Given the description of an element on the screen output the (x, y) to click on. 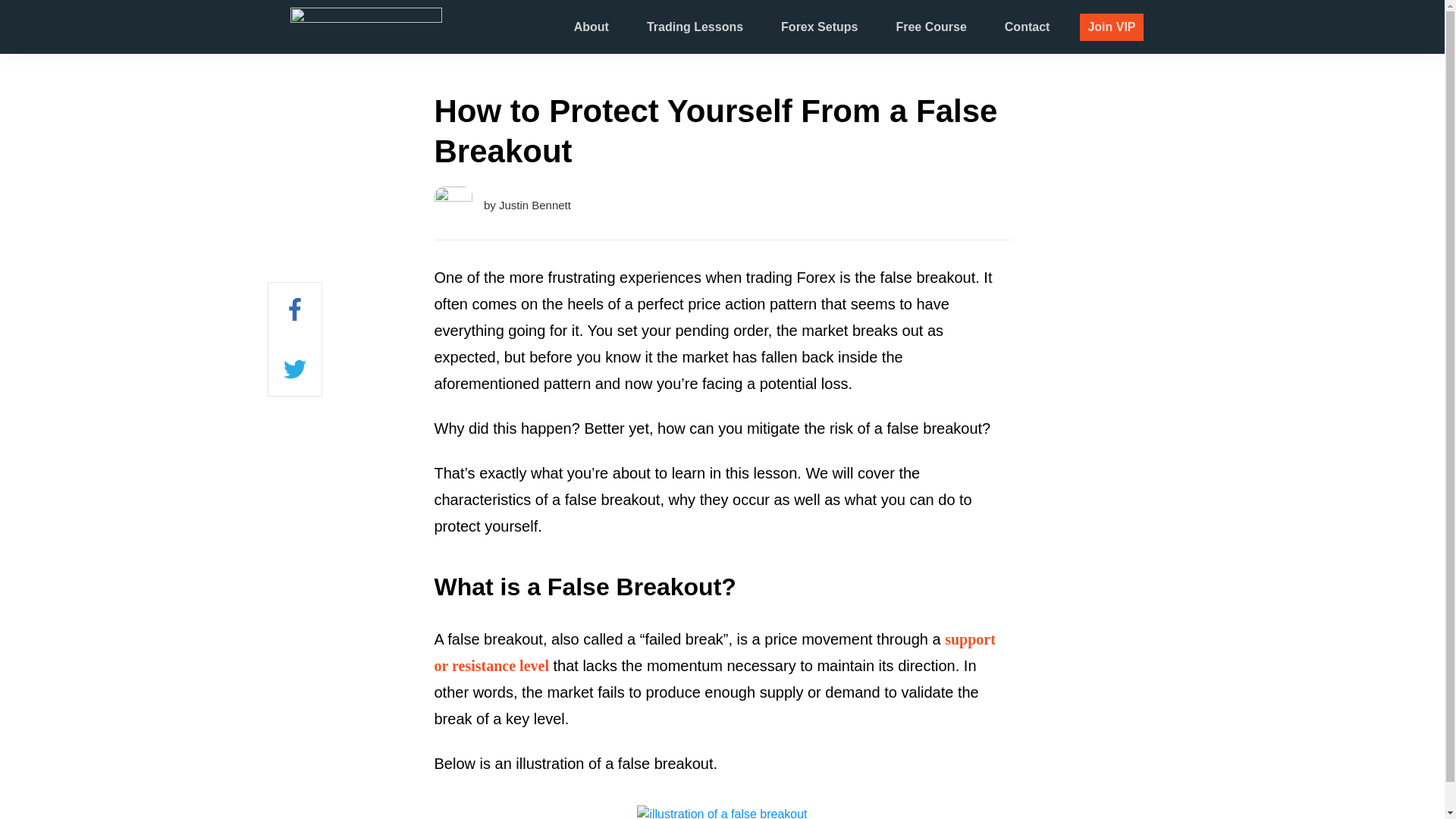
How to Protect Yourself From a False Breakout (715, 130)
Forex Setups (818, 27)
Join VIP (1111, 27)
How to Protect Yourself From a False Breakout (715, 130)
About (590, 27)
Twitter-avatar (452, 205)
Contact (1026, 27)
support or resistance level (713, 652)
Trading Lessons (694, 27)
How to Protect Yourself From a False Breakout 1 (721, 812)
Justin Bennett (534, 205)
Free Course (930, 27)
